Given the description of an element on the screen output the (x, y) to click on. 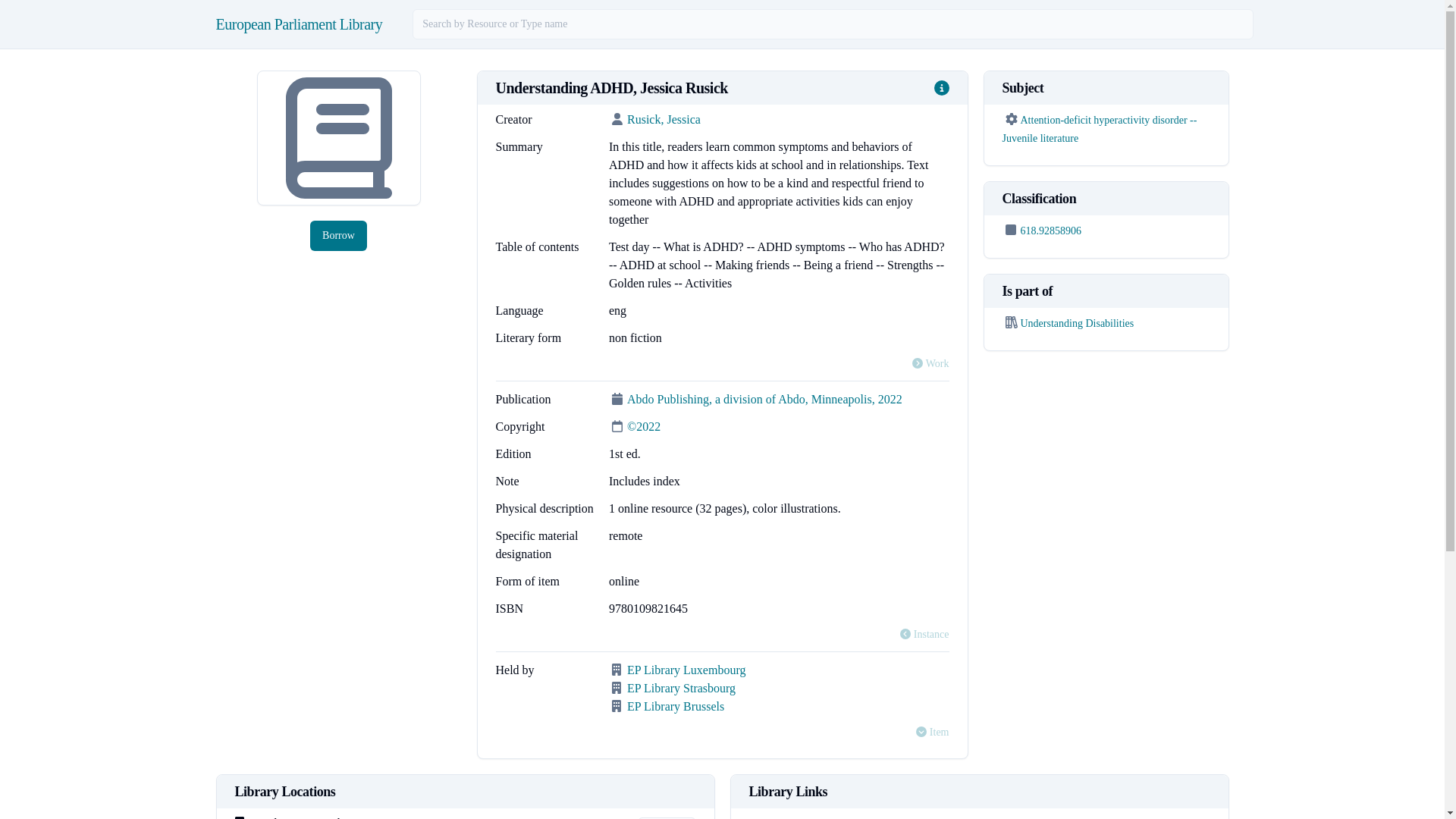
Borrow (666, 818)
Work (930, 363)
Item (932, 732)
EP Library Brussels (675, 706)
Abdo Publishing, a division of Abdo, Minneapolis, 2022 (764, 399)
EP Library Luxembourg (686, 669)
618.92858906 (1050, 230)
Rusick, Jessica (663, 119)
Instance (924, 634)
